Given the description of an element on the screen output the (x, y) to click on. 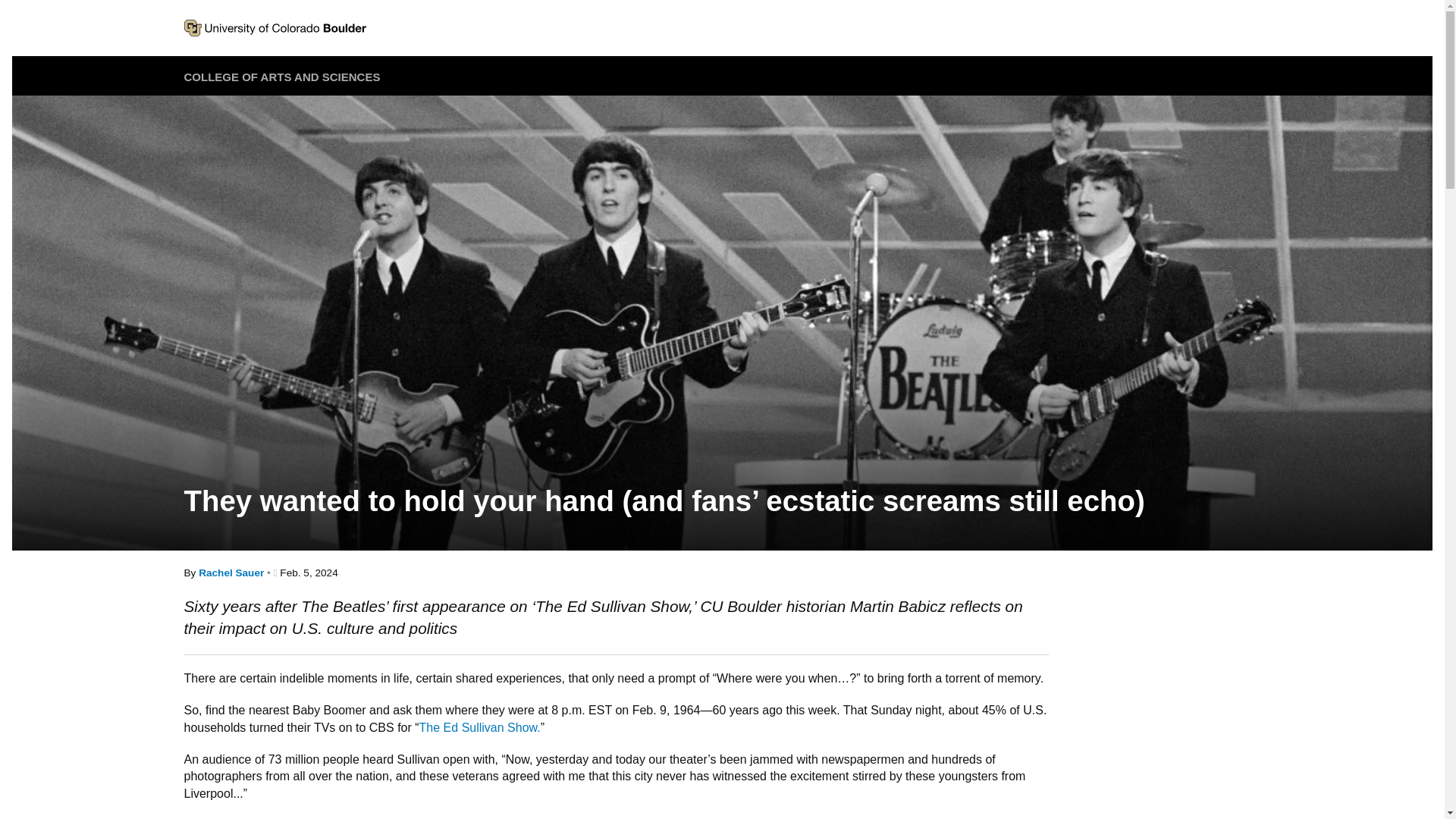
Rachel Sauer (230, 572)
The Ed Sullivan Show. (479, 727)
COLLEGE OF ARTS AND SCIENCES (281, 76)
